Given the description of an element on the screen output the (x, y) to click on. 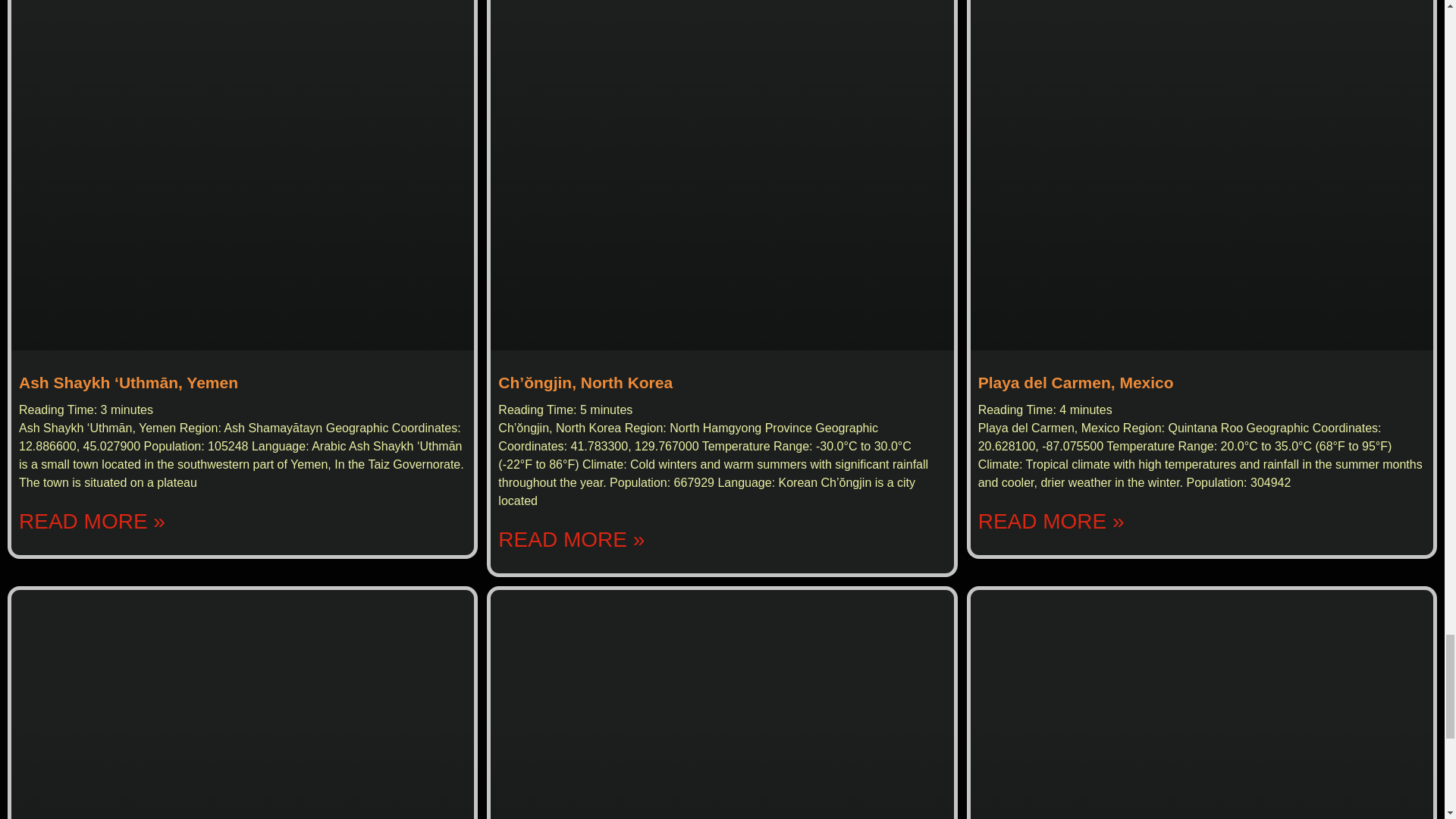
Playa del Carmen, Mexico (1075, 382)
